Given the description of an element on the screen output the (x, y) to click on. 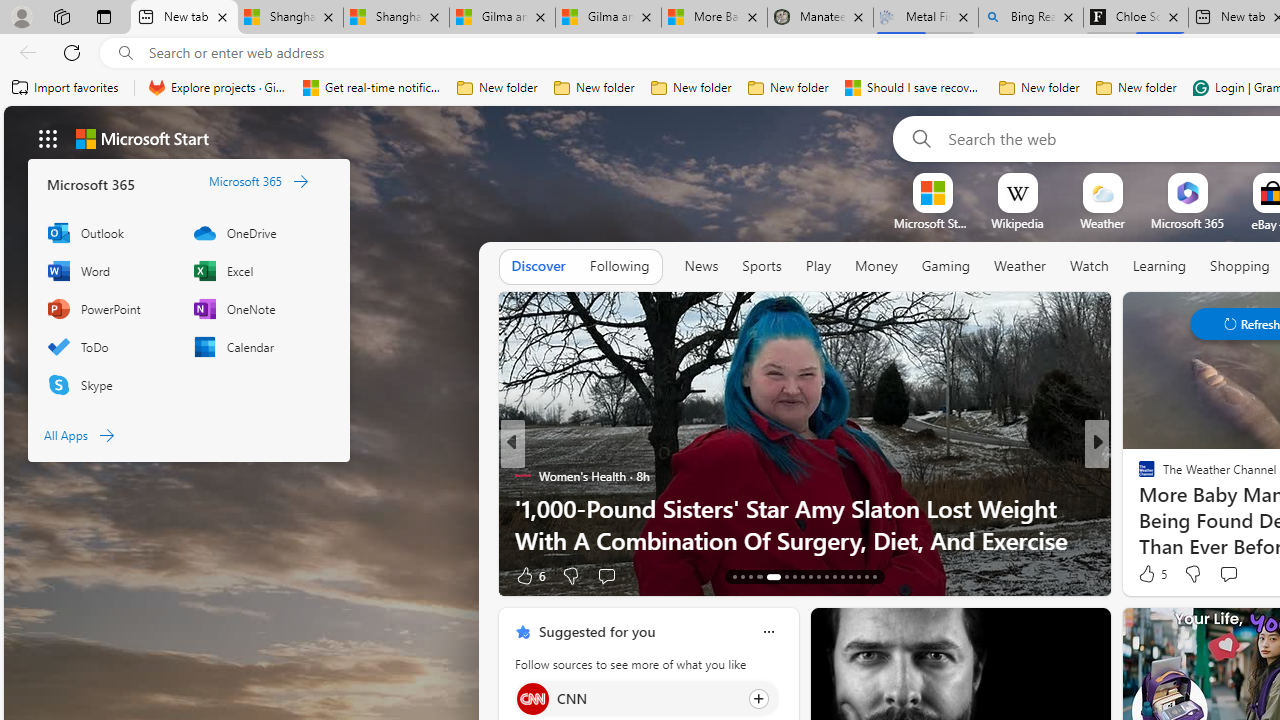
AutomationID: tab-40 (857, 576)
The Verge (1138, 475)
View comments 1 Comment (1234, 574)
AutomationID: tab-24 (833, 576)
BuzzFeed (1138, 475)
93 Like (1149, 574)
View comments 19 Comment (1244, 574)
Excel (255, 270)
Chloe Sorvino (1135, 17)
